Given the description of an element on the screen output the (x, y) to click on. 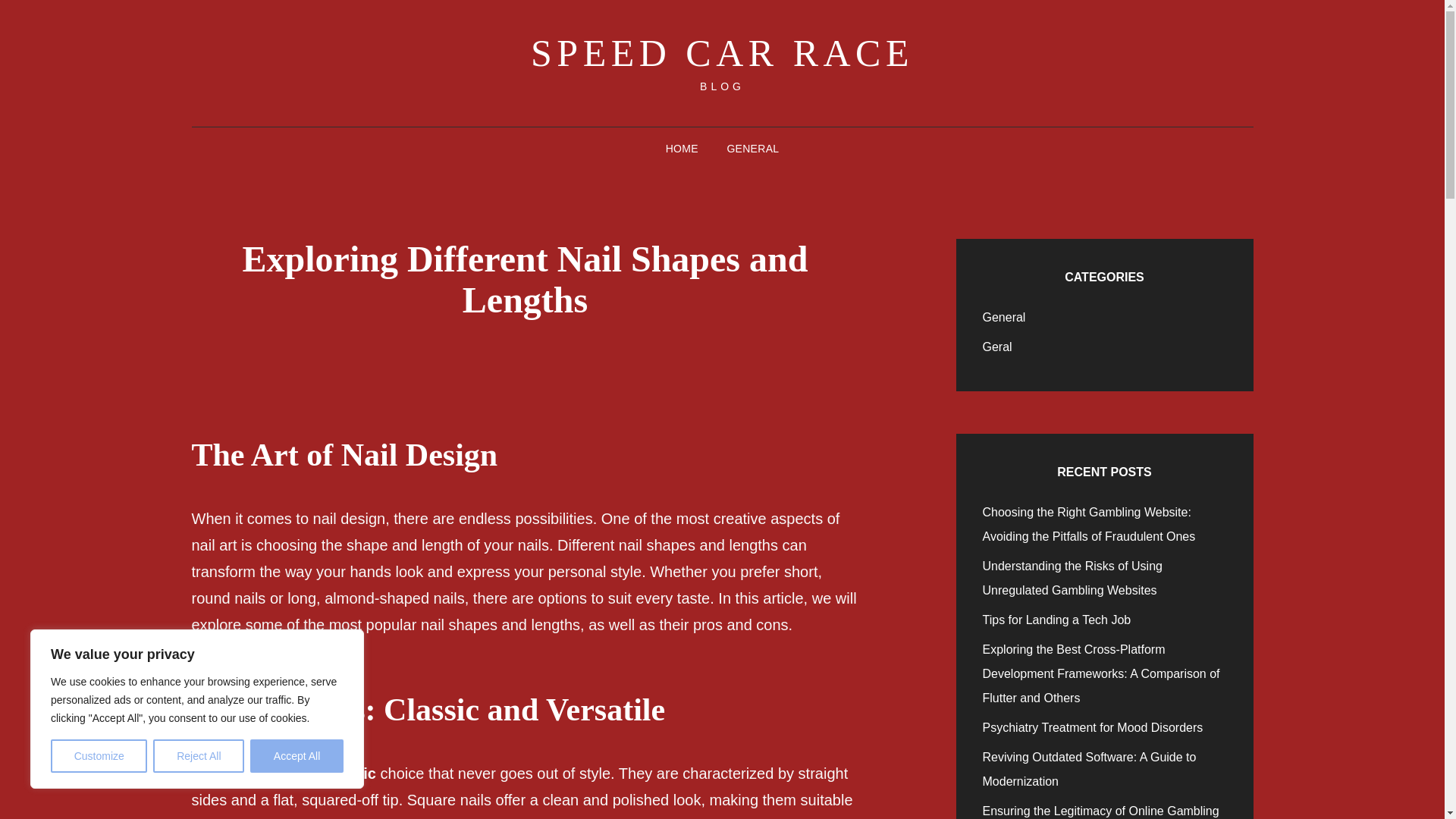
GENERAL (752, 148)
Geral (996, 346)
Accept All (296, 756)
Reject All (198, 756)
HOME (681, 148)
Tips for Landing a Tech Job (1056, 619)
SPEED CAR RACE (722, 52)
General (1004, 317)
Psychiatry Treatment for Mood Disorders (1093, 727)
Customize (98, 756)
Ensuring the Legitimacy of Online Gambling Platforms (1101, 811)
